Given the description of an element on the screen output the (x, y) to click on. 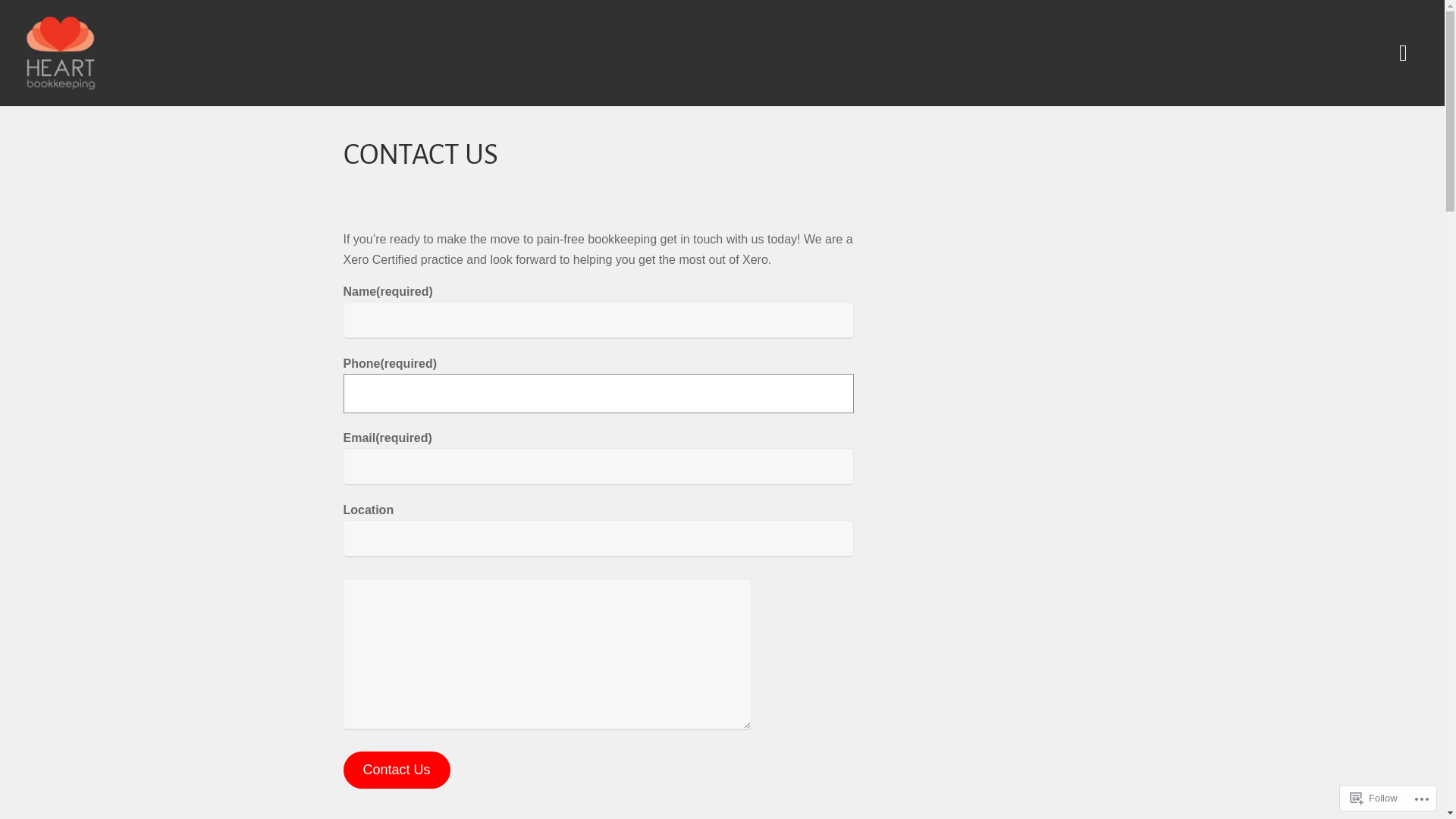
Follow Element type: text (1373, 797)
Contact Us Element type: text (395, 769)
